Given the description of an element on the screen output the (x, y) to click on. 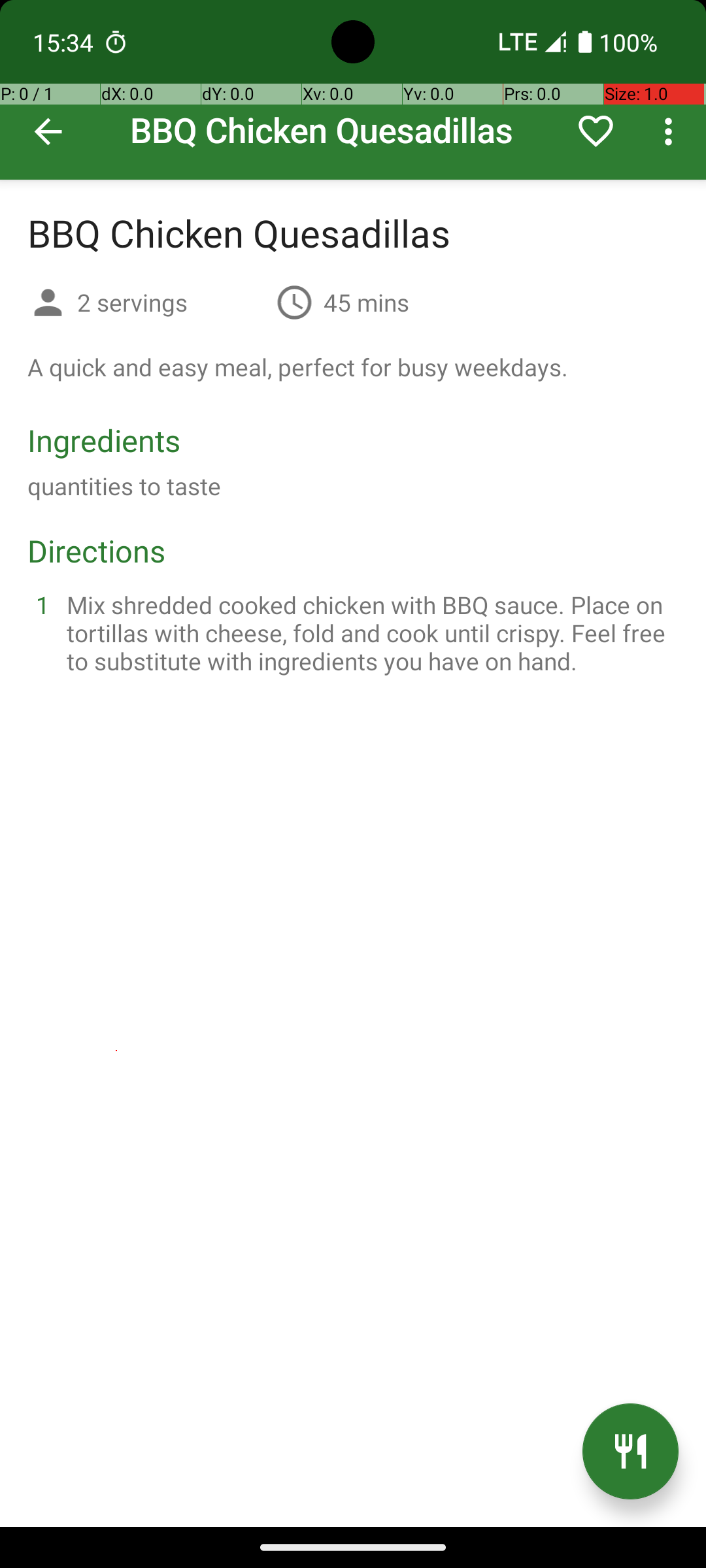
Mix shredded cooked chicken with BBQ sauce. Place on tortillas with cheese, fold and cook until crispy. Feel free to substitute with ingredients you have on hand. Element type: android.widget.TextView (368, 632)
